Given the description of an element on the screen output the (x, y) to click on. 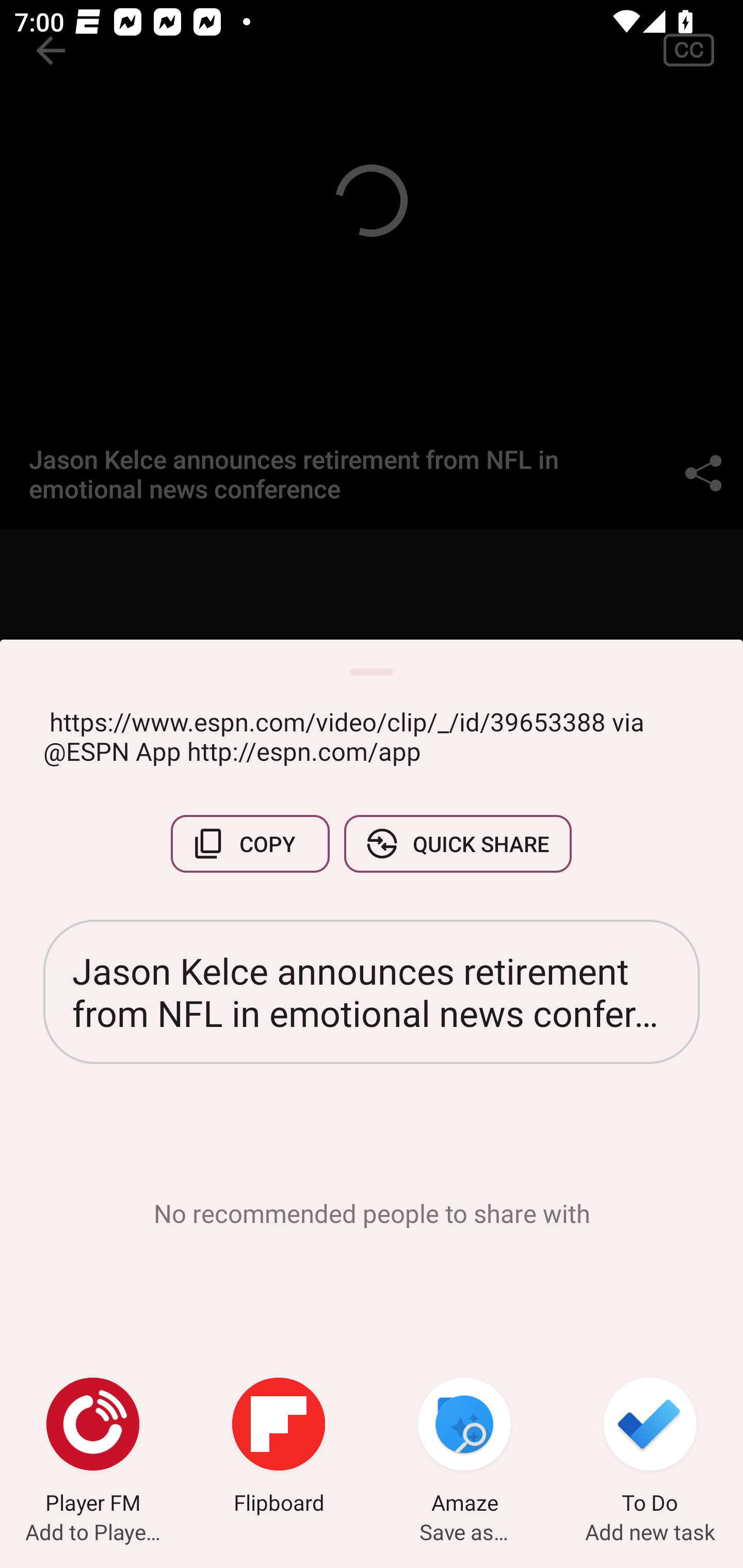
COPY (249, 844)
QUICK SHARE (457, 844)
Player FM Add to Player FM (92, 1448)
Flipboard (278, 1448)
Amaze Save as… (464, 1448)
To Do Add new task (650, 1448)
